Given the description of an element on the screen output the (x, y) to click on. 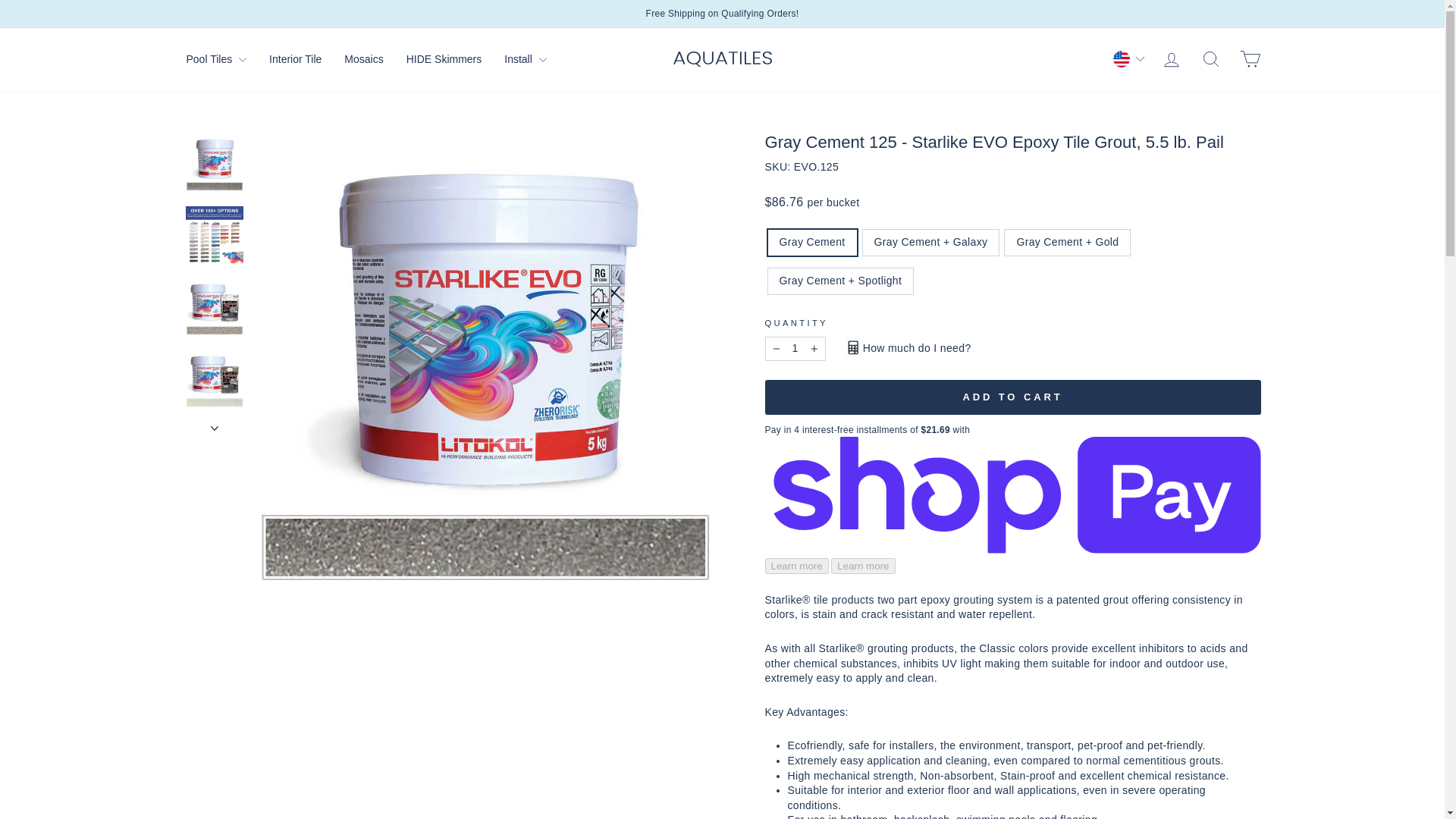
1 (794, 348)
account (1171, 59)
icon-search (1170, 59)
icon-chevron (1210, 58)
Gray Cement (214, 427)
Interior Tile (1210, 59)
Cart (443, 58)
